Given the description of an element on the screen output the (x, y) to click on. 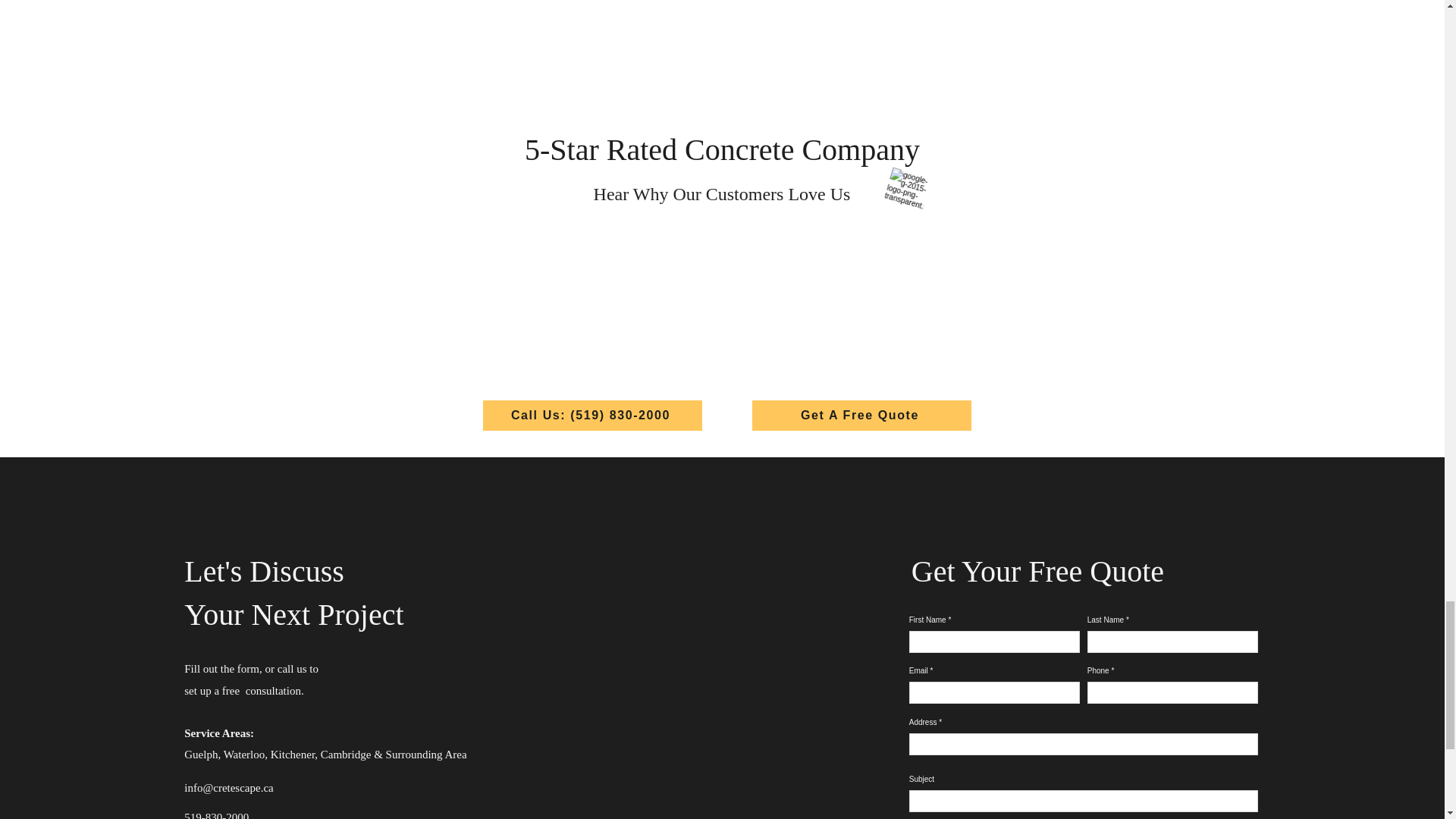
Get A Free Quote (861, 415)
519-830-2000 (216, 815)
